Given the description of an element on the screen output the (x, y) to click on. 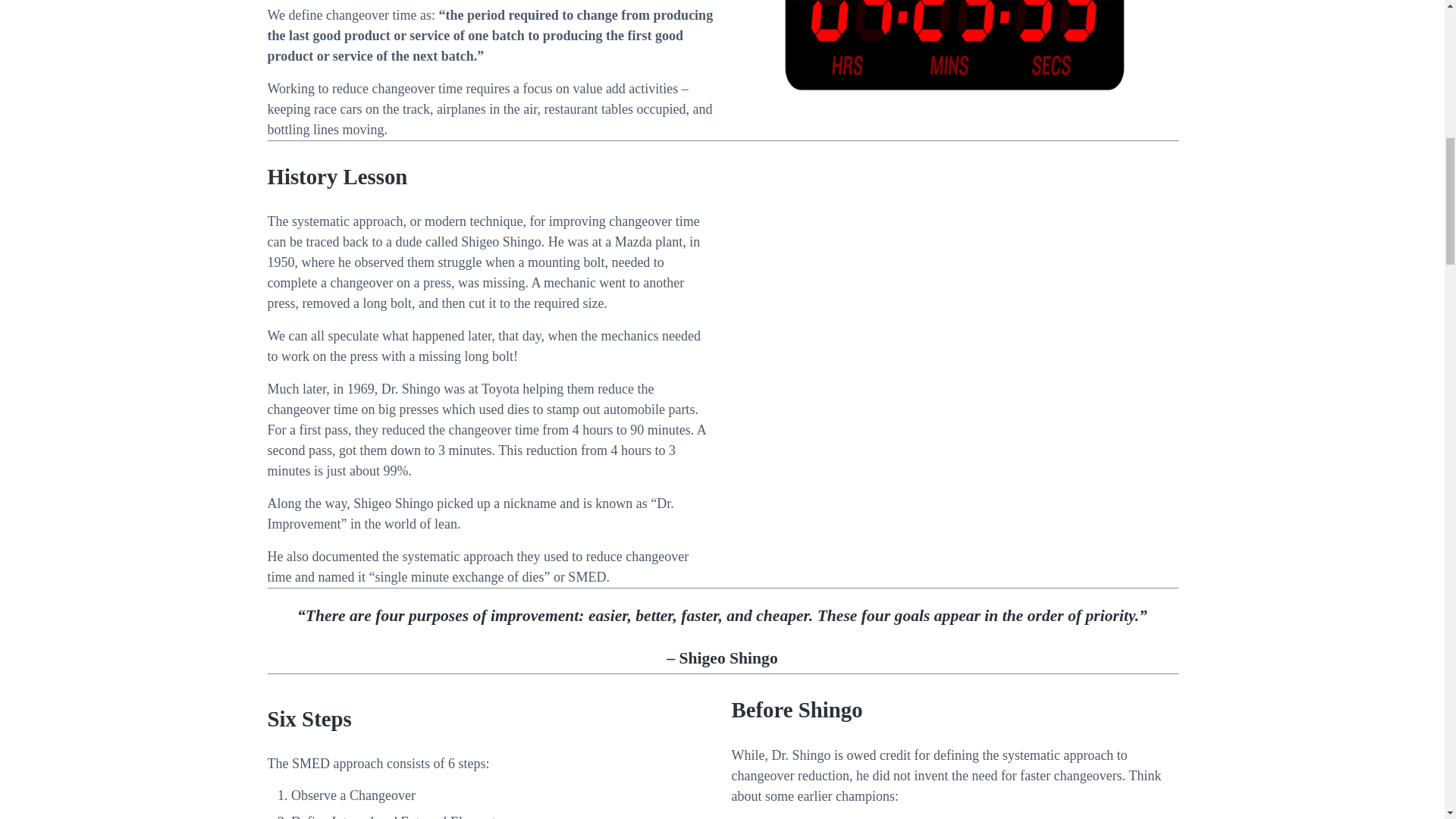
Changeover Time (954, 46)
History of Changeover Reduction (953, 370)
